Given the description of an element on the screen output the (x, y) to click on. 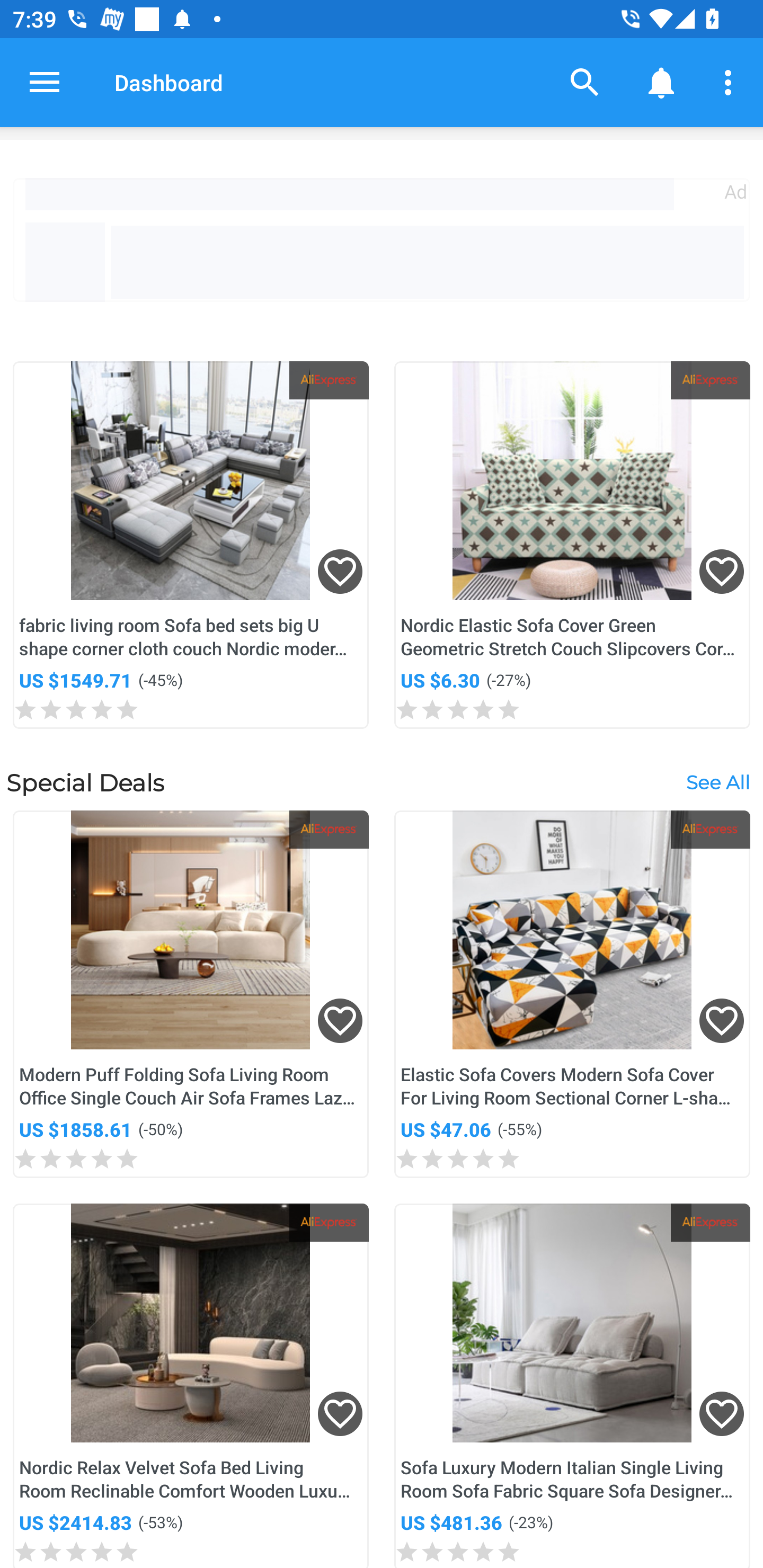
Open navigation drawer (44, 82)
Search (585, 81)
More options (731, 81)
See All (717, 781)
